Given the description of an element on the screen output the (x, y) to click on. 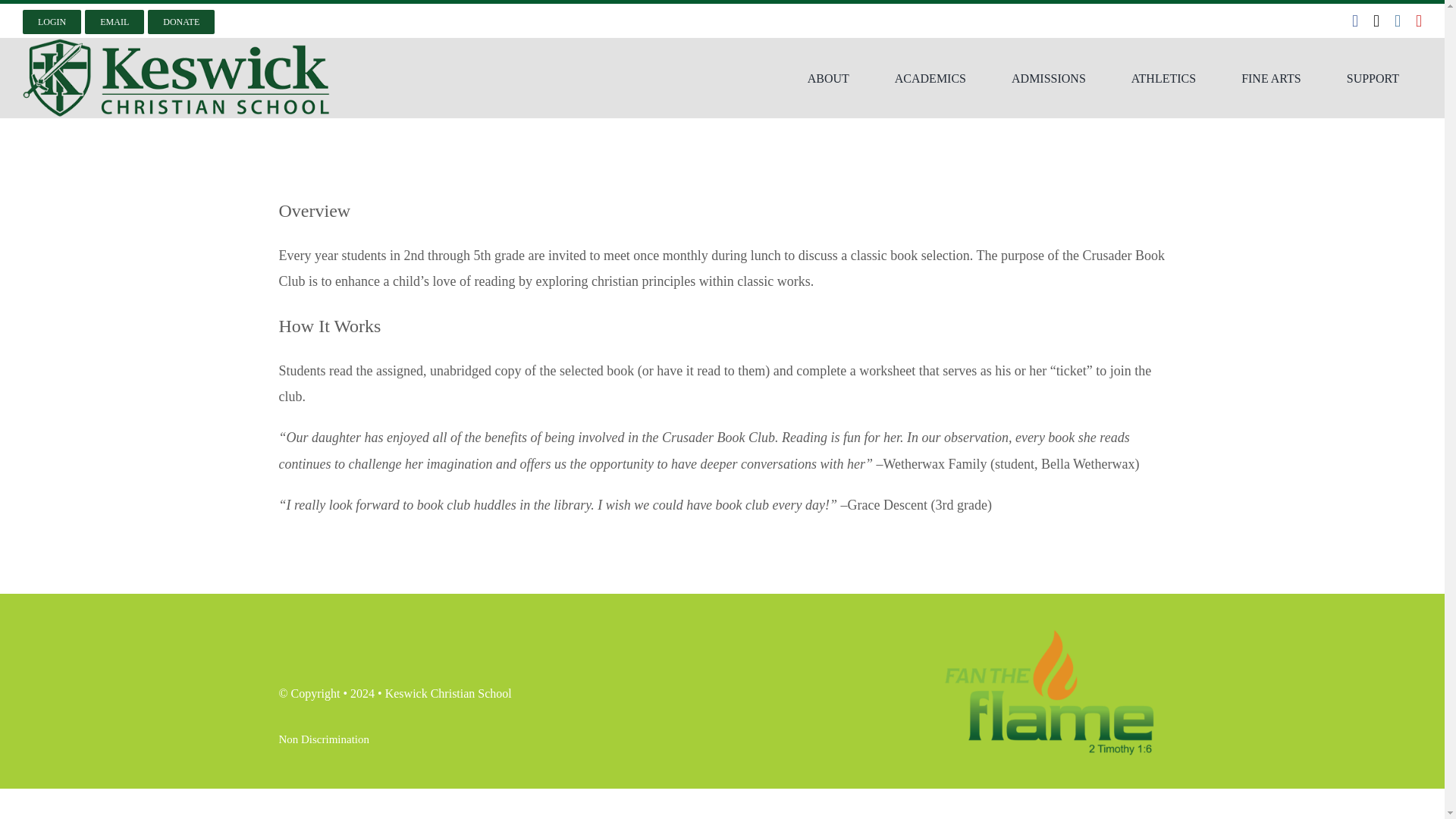
ADMISSIONS (1048, 78)
EMAIL (114, 21)
FINE ARTS (1270, 78)
ATHLETICS (1163, 78)
SUPPORT (1372, 78)
ACADEMICS (930, 78)
DONATE (181, 21)
LOGIN (52, 21)
ABOUT (828, 78)
Non Discrimination (323, 739)
